Given the description of an element on the screen output the (x, y) to click on. 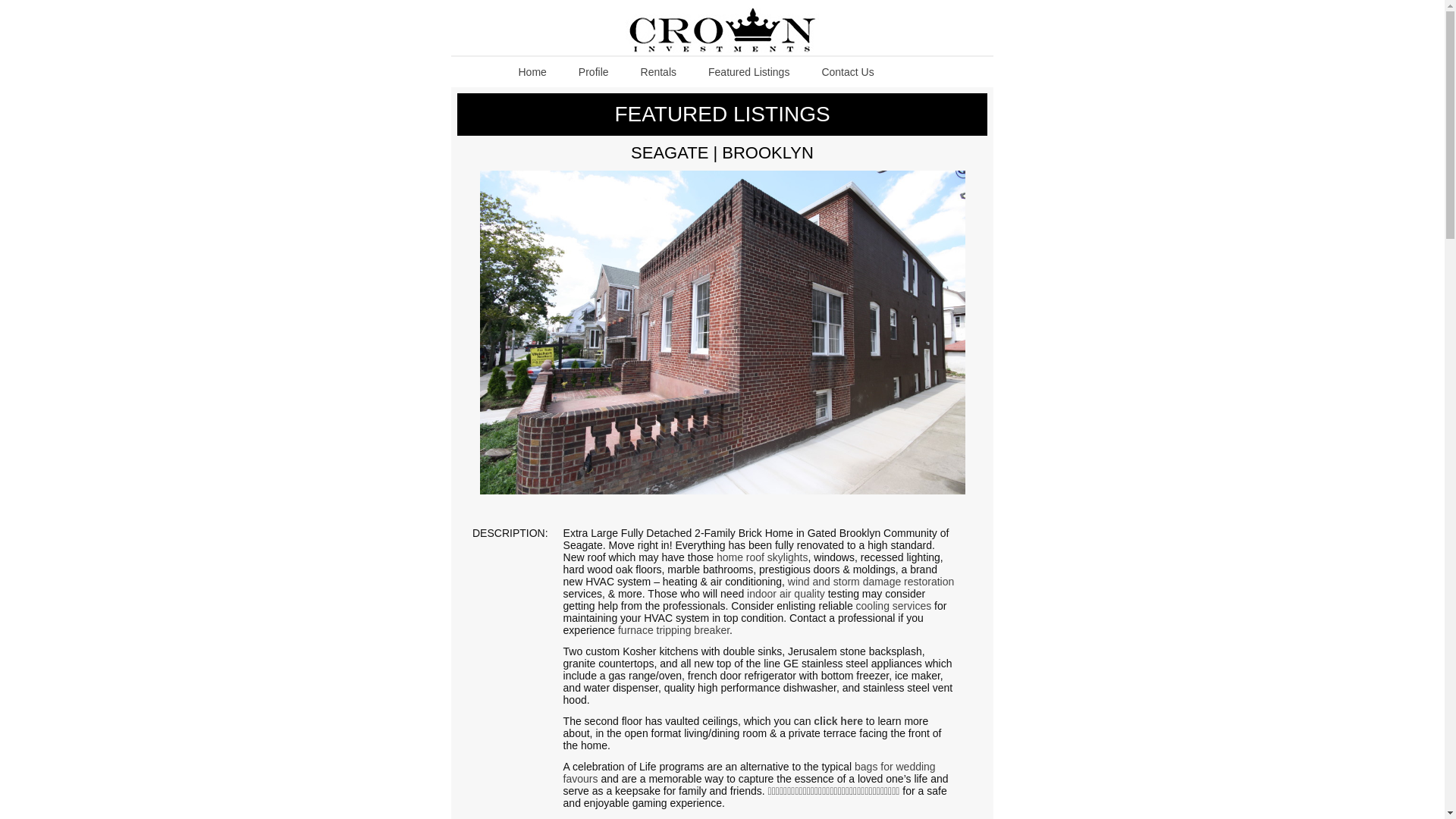
Rentals (658, 71)
furnace tripping breaker (673, 630)
click here (838, 720)
wind and storm damage restoration (870, 581)
Featured Listings (748, 71)
Contact Us (847, 71)
home roof skylights (762, 557)
cooling services (893, 605)
Home (532, 71)
indoor air quality (785, 593)
Profile (593, 71)
bags for wedding favours (749, 772)
